Given the description of an element on the screen output the (x, y) to click on. 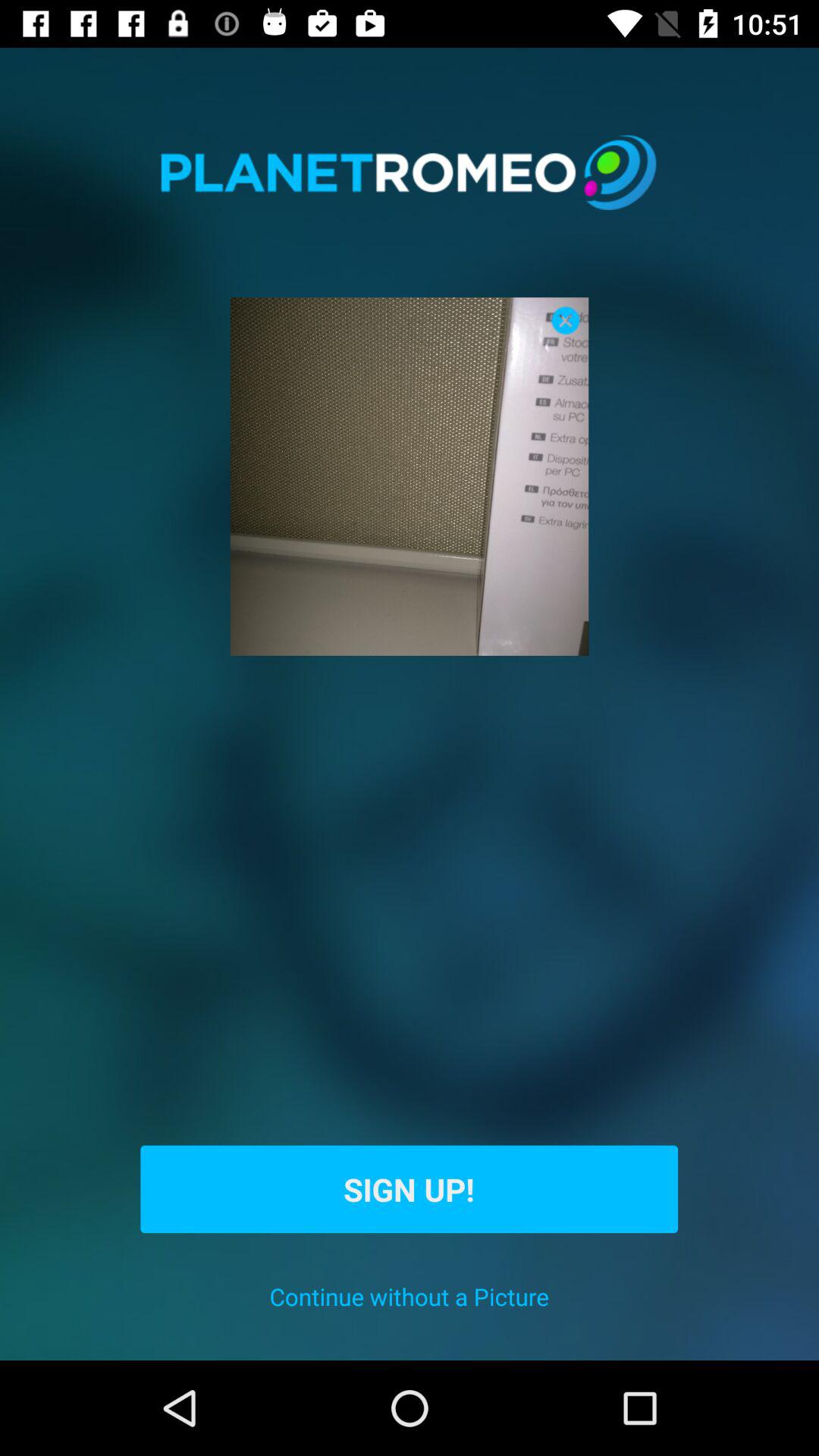
swipe until continue without a (408, 1296)
